Given the description of an element on the screen output the (x, y) to click on. 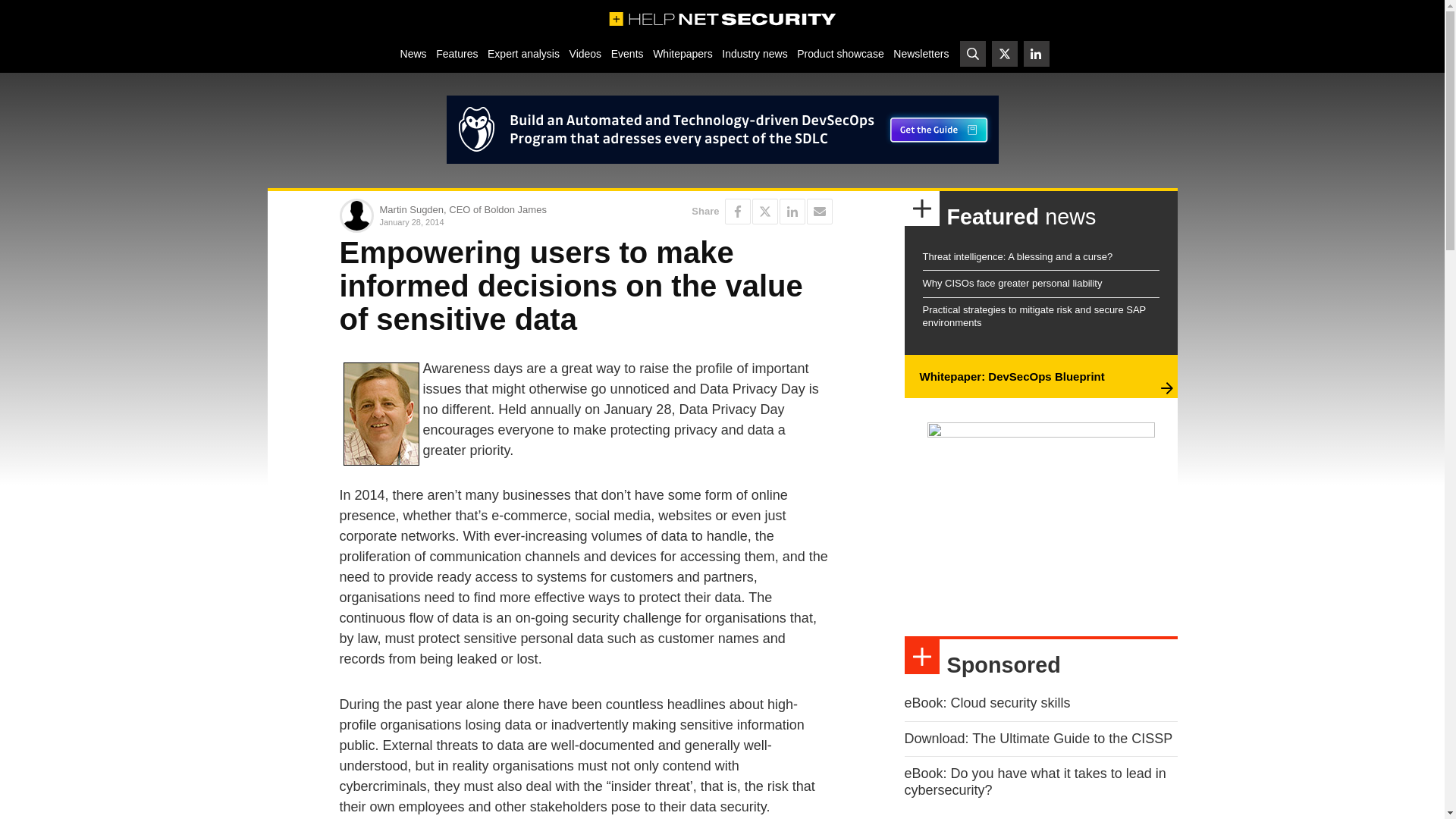
eBook: Cloud security skills (987, 702)
Events (626, 53)
Threat intelligence: A blessing and a curse? (1016, 256)
Why CISOs face greater personal liability (1011, 283)
Newsletters (920, 53)
Download: The Ultimate Guide to the CISSP (1038, 738)
eBook: Do you have what it takes to lead in cybersecurity? (1035, 781)
Download: The Ultimate Guide to the CISSP (1038, 738)
